Given the description of an element on the screen output the (x, y) to click on. 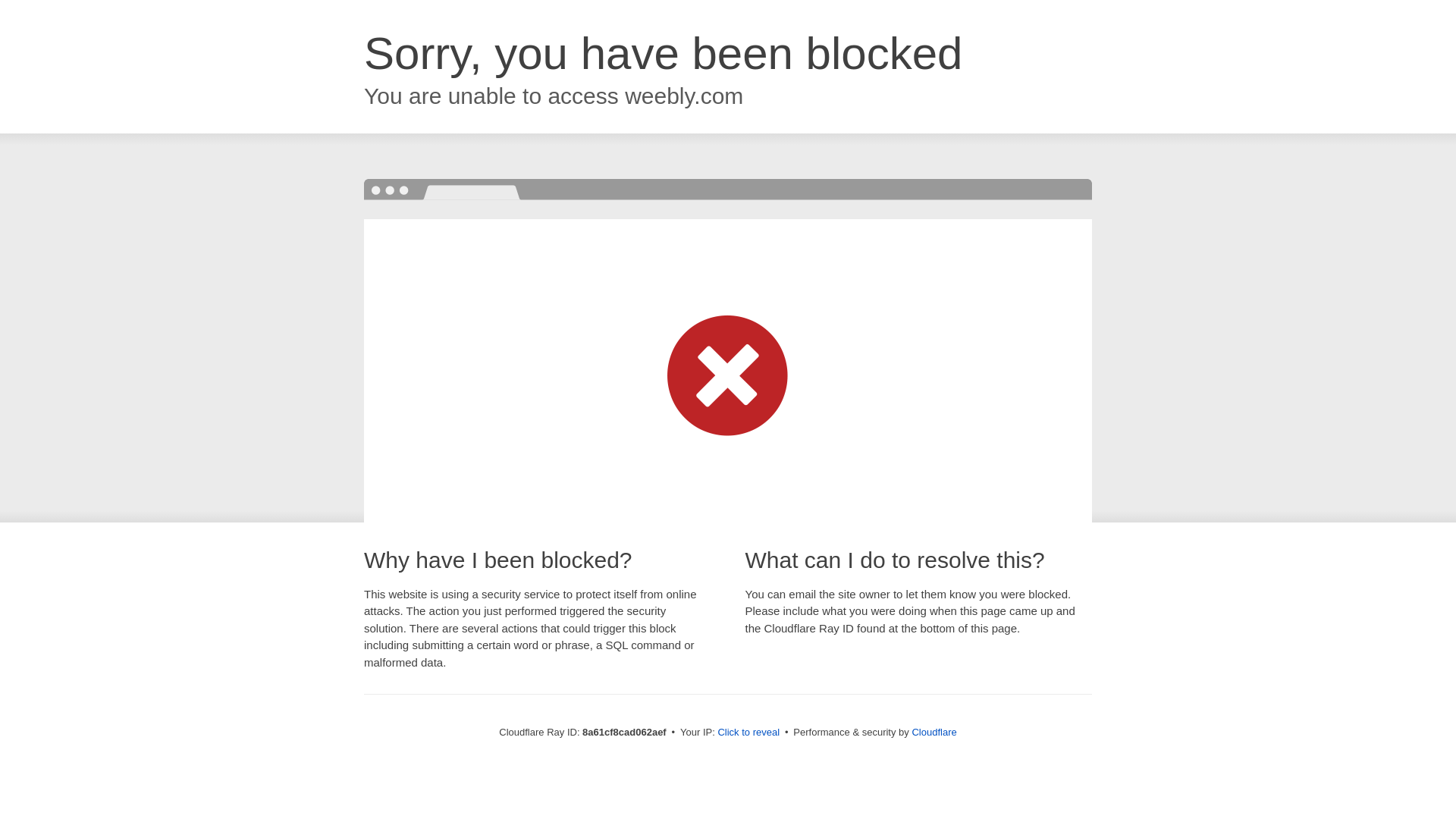
Click to reveal (747, 732)
Cloudflare (933, 731)
